Given the description of an element on the screen output the (x, y) to click on. 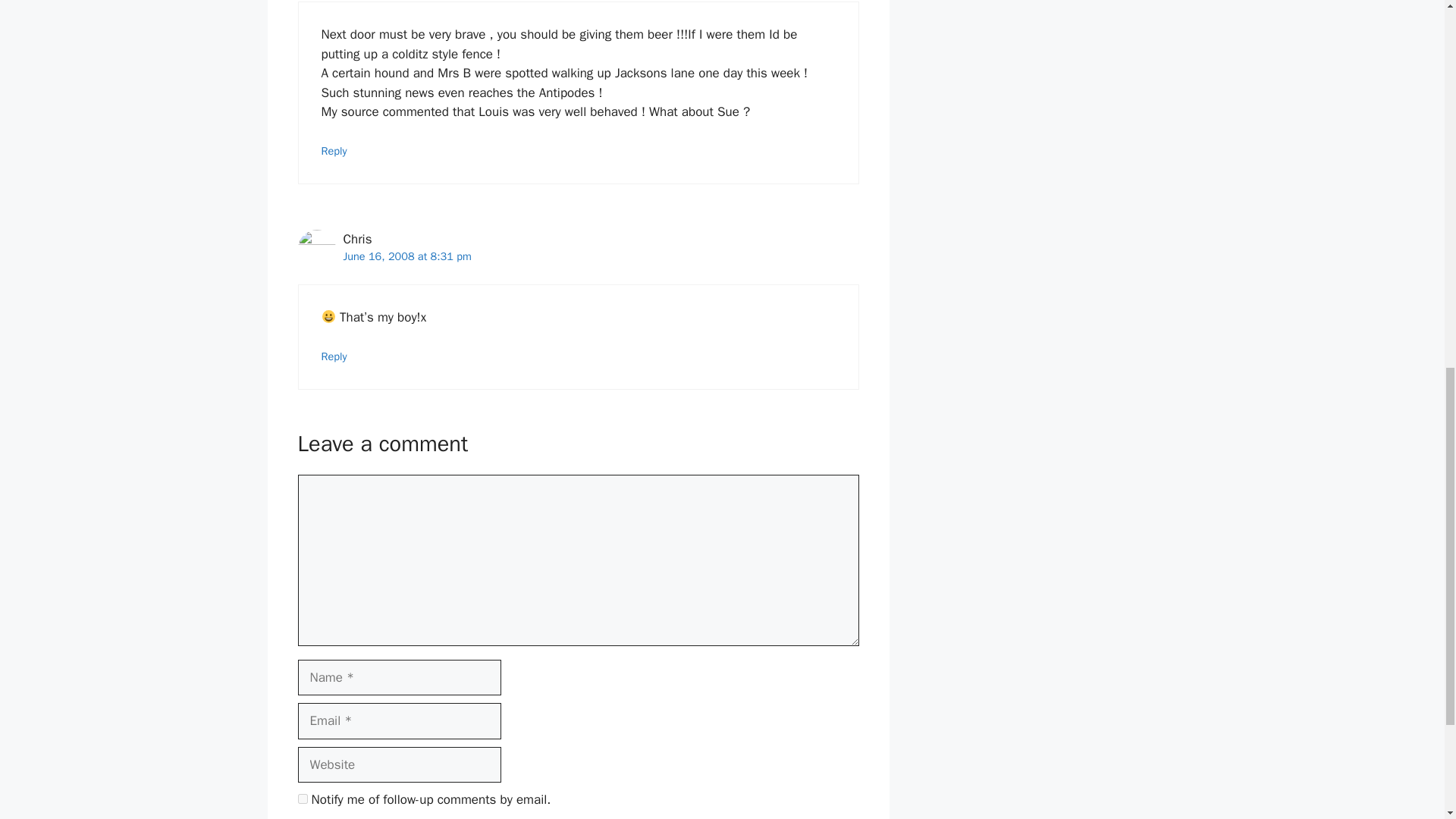
June 16, 2008 at 8:31 pm (406, 255)
subscribe (302, 798)
Reply (334, 356)
Reply (334, 151)
